Given the description of an element on the screen output the (x, y) to click on. 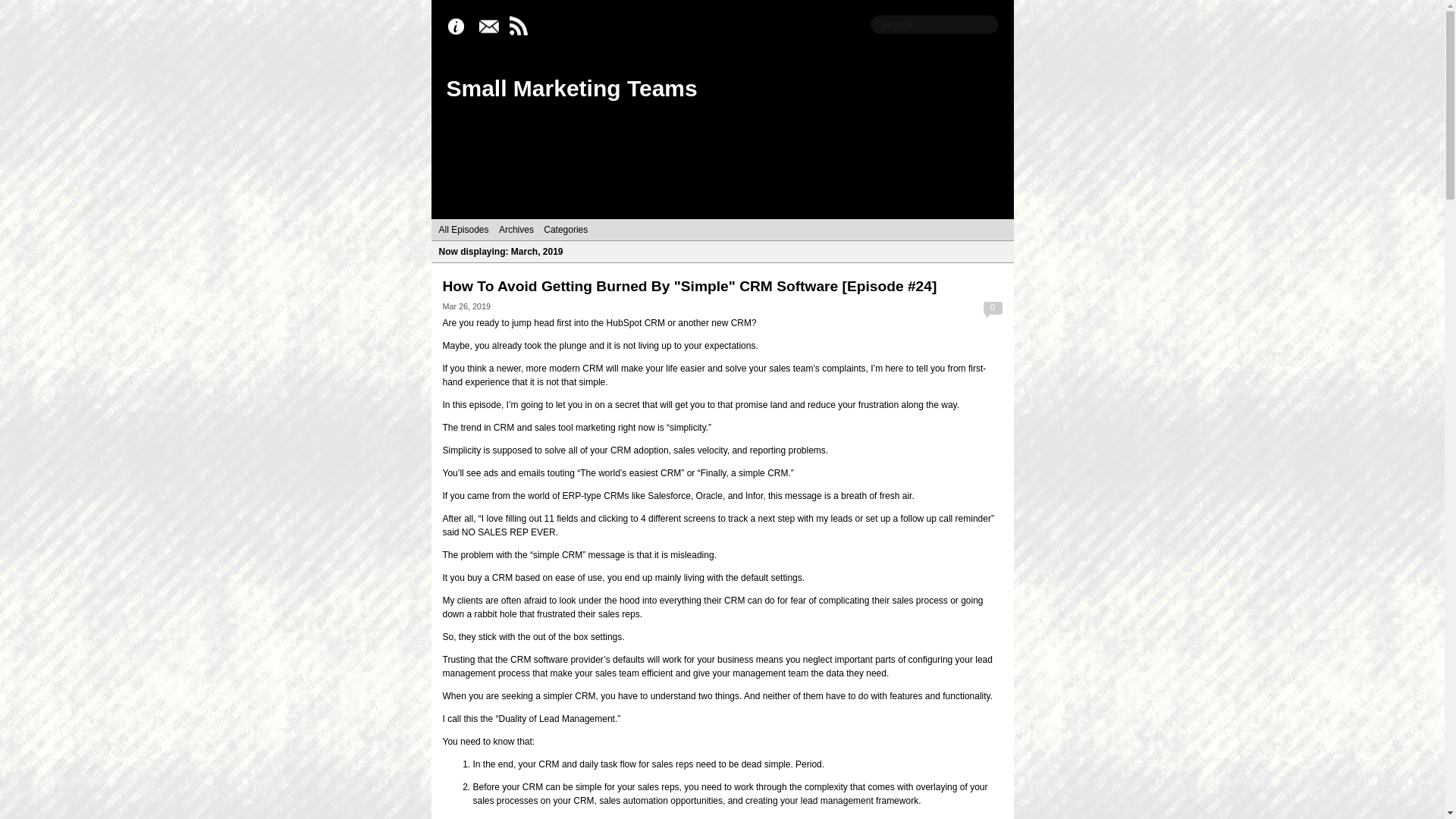
RSS Feed (521, 26)
Small Marketing Teams (571, 88)
Email (491, 26)
